Given the description of an element on the screen output the (x, y) to click on. 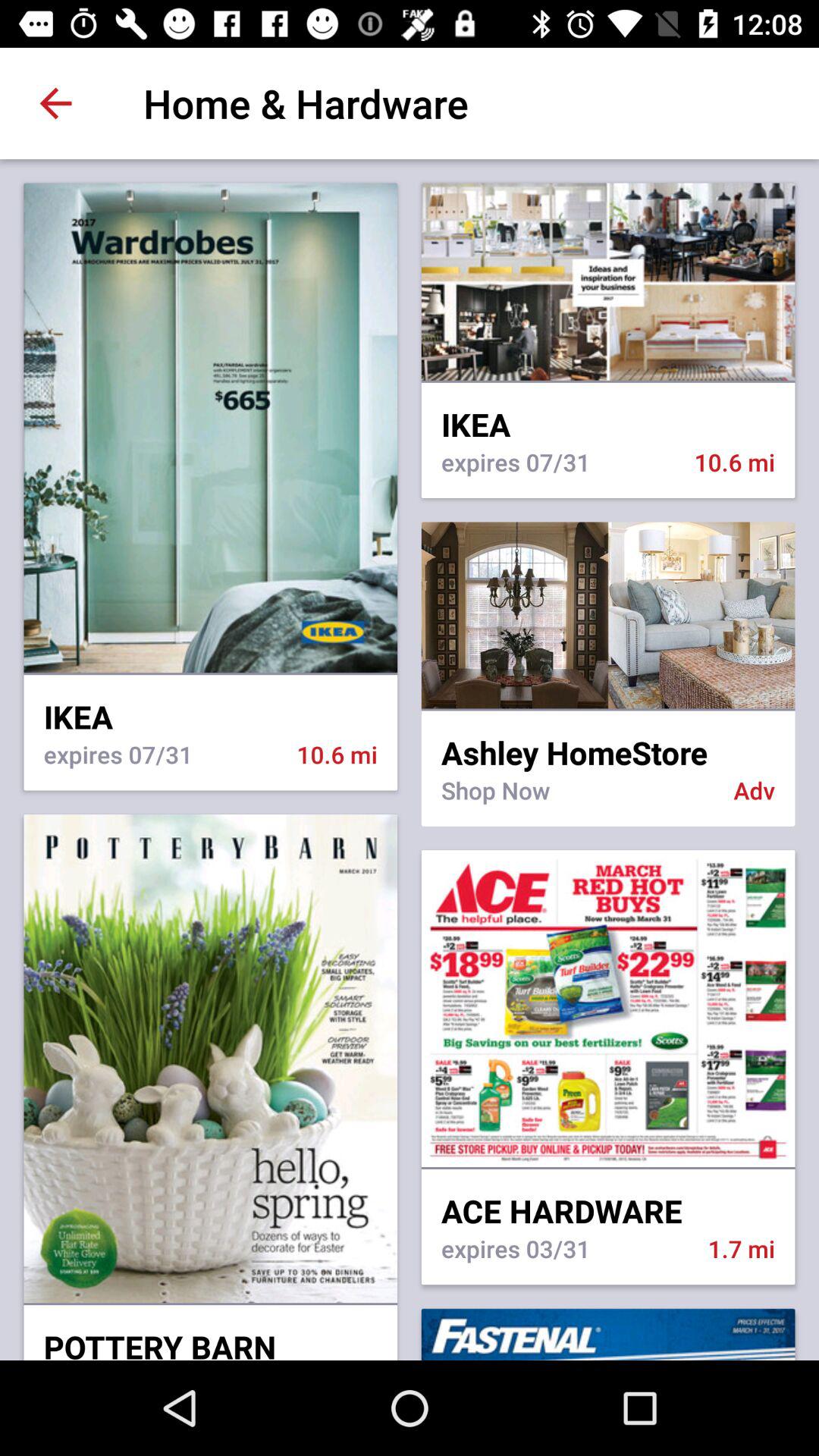
select the item above ashley homestore item (608, 709)
